Given the description of an element on the screen output the (x, y) to click on. 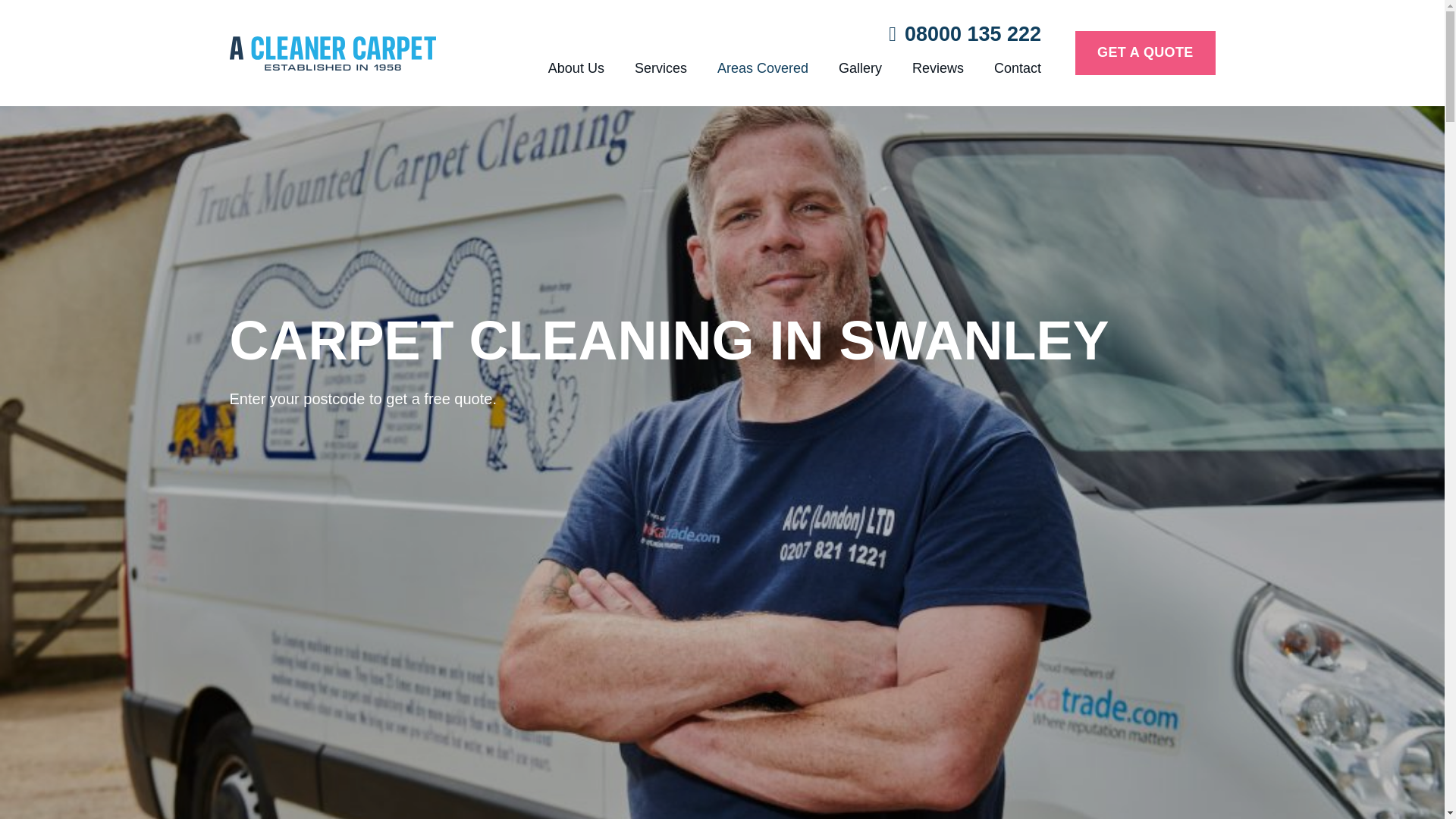
Contact (1017, 67)
GET A QUOTE (1144, 53)
About Us (576, 67)
Areas Covered (762, 67)
Services (660, 67)
Reviews (937, 67)
Gallery (860, 67)
